Given the description of an element on the screen output the (x, y) to click on. 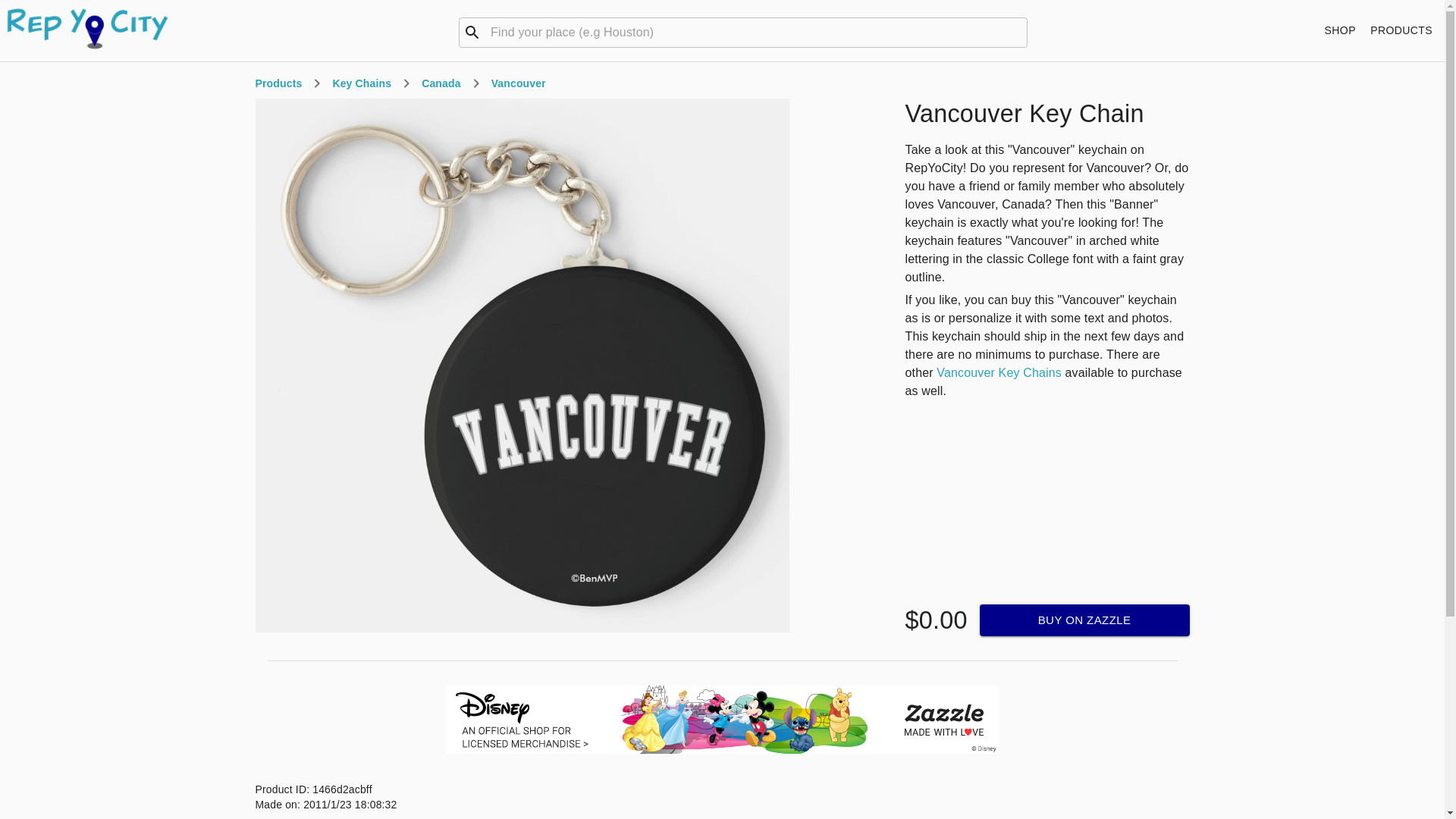
PRODUCTS (1401, 30)
Key Chains (361, 82)
BUY ON ZAZZLE (1084, 620)
Canada (441, 82)
SHOP (1340, 30)
Vancouver (519, 82)
Products (277, 82)
Vancouver Key Chains (998, 372)
